Given the description of an element on the screen output the (x, y) to click on. 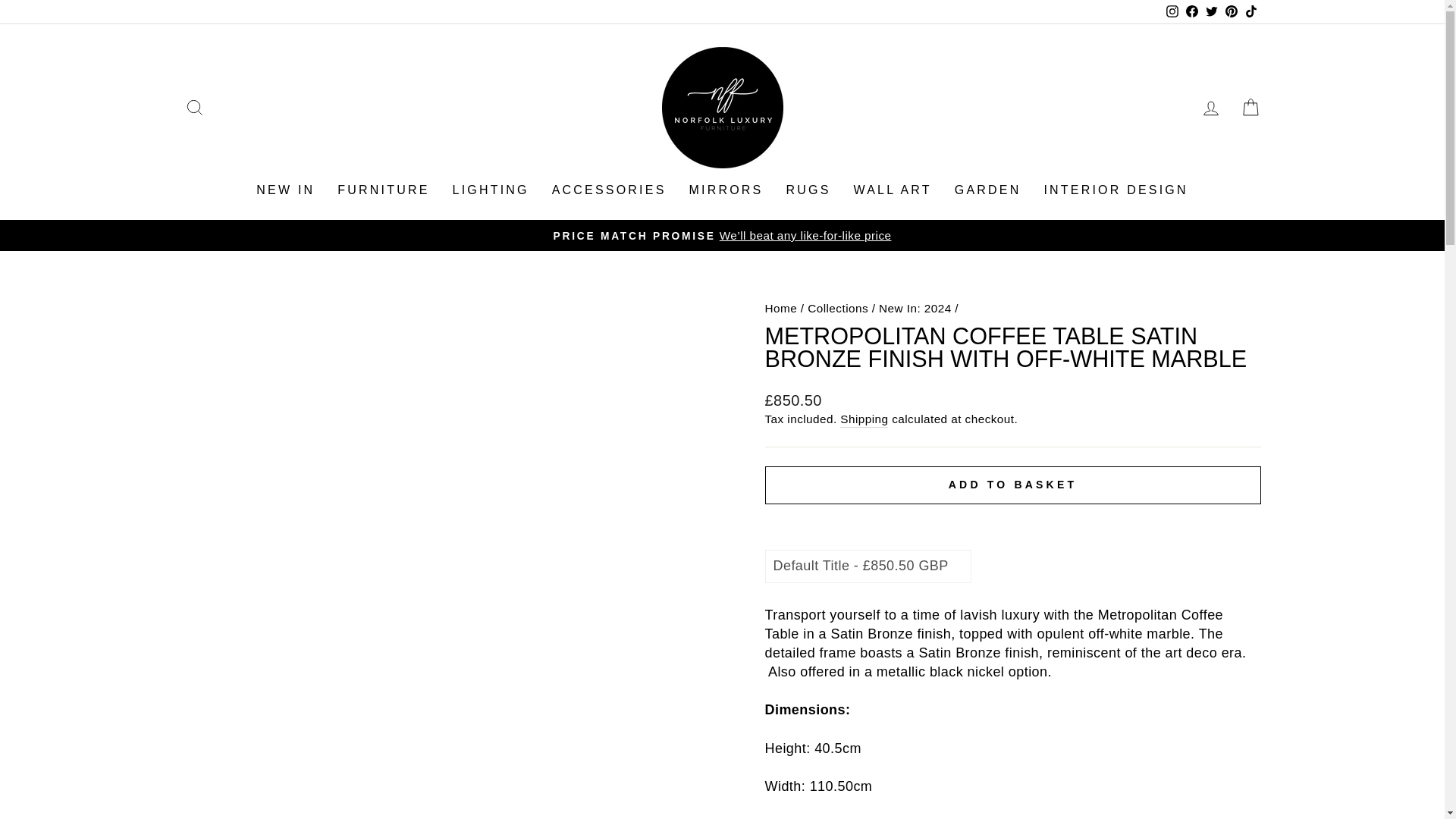
Norfolk Luxury Furniture  on Instagram (1170, 11)
Norfolk Luxury Furniture  on Pinterest (1230, 11)
Back to the frontpage (780, 308)
Norfolk Luxury Furniture  on TikTok (1250, 11)
Norfolk Luxury Furniture  on Twitter (1211, 11)
Norfolk Luxury Furniture  on Facebook (1190, 11)
